Given the description of an element on the screen output the (x, y) to click on. 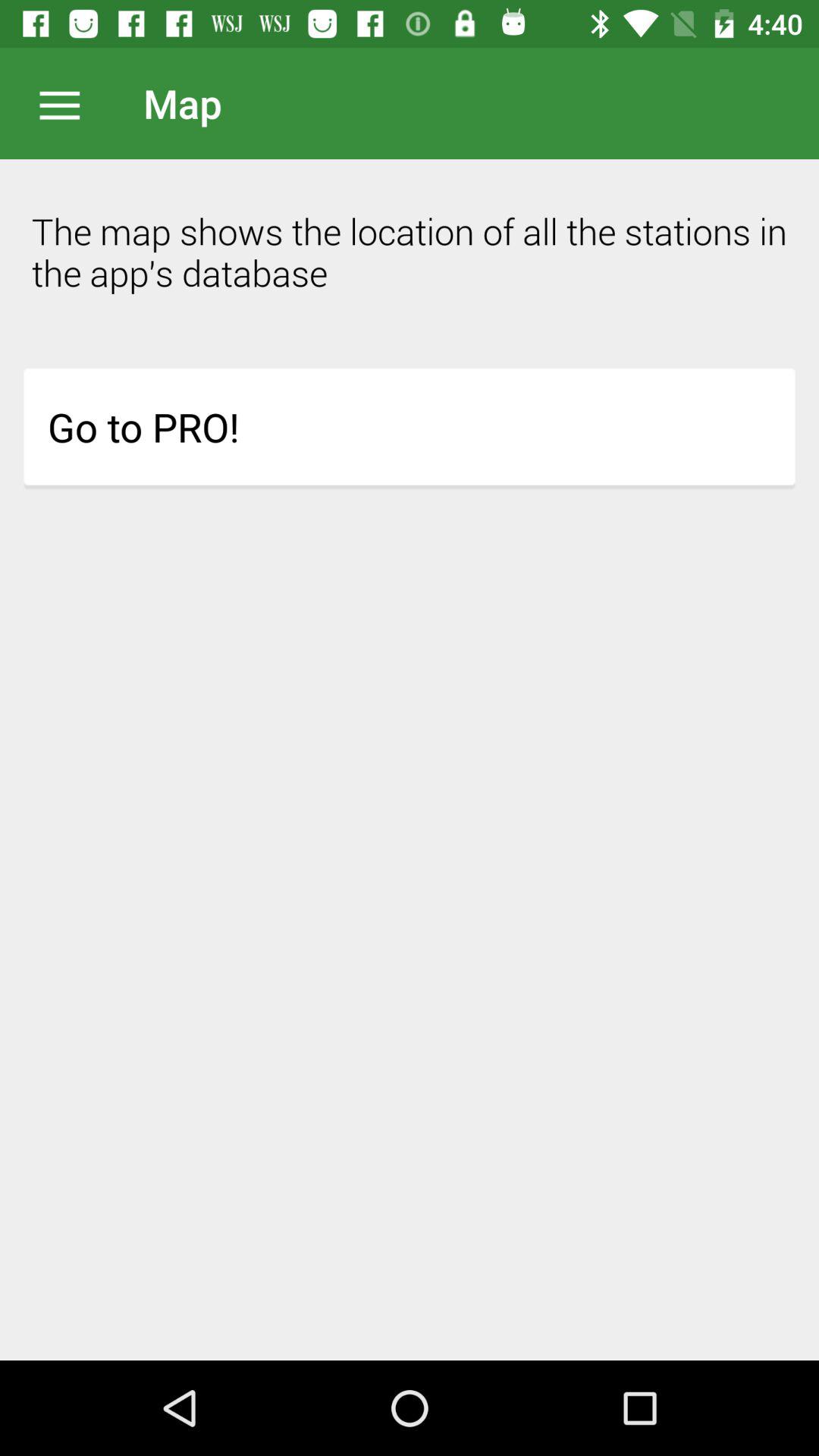
tap the item to the left of the map icon (67, 103)
